Given the description of an element on the screen output the (x, y) to click on. 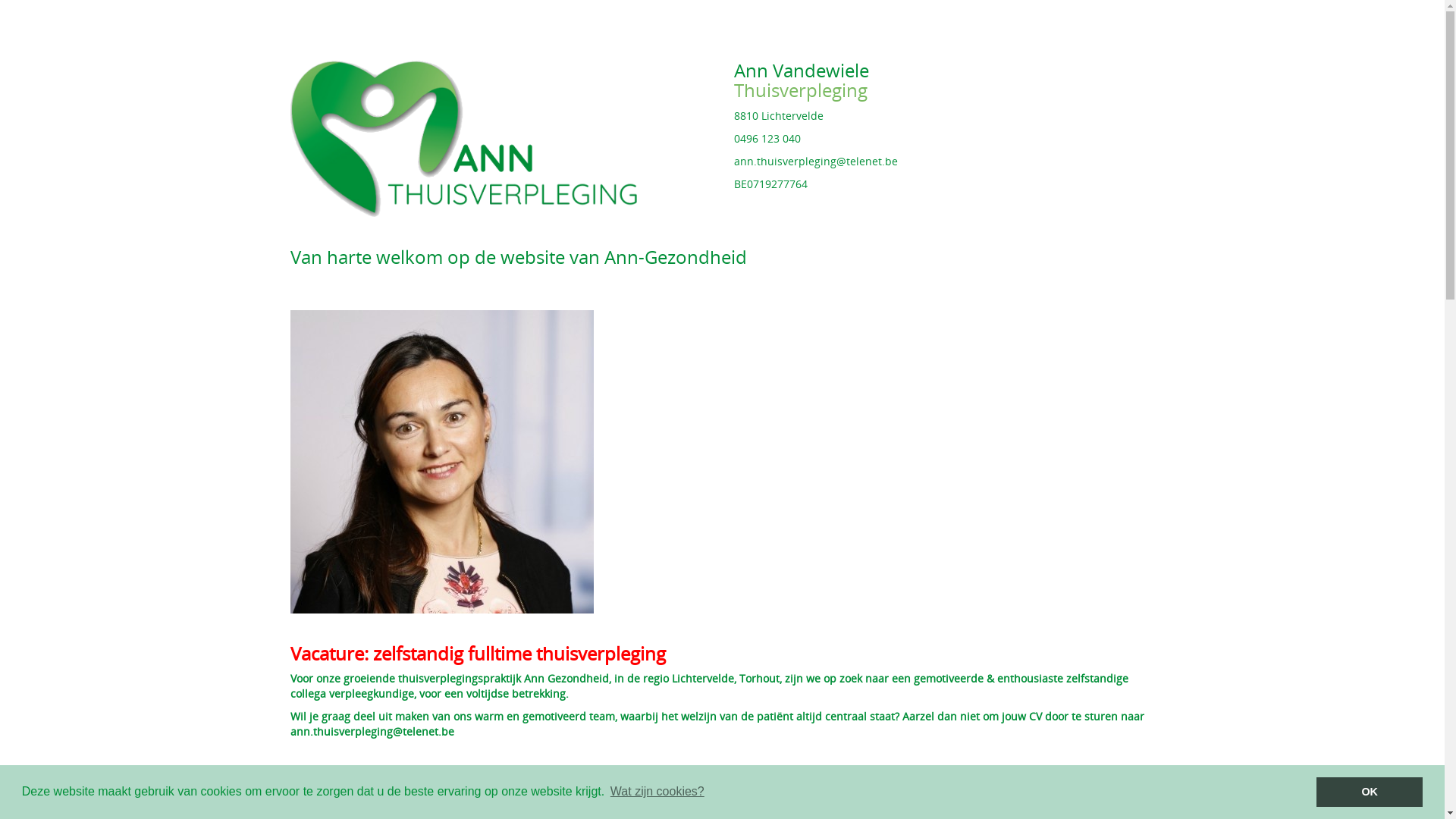
Wat zijn cookies? Element type: text (657, 791)
OK Element type: text (1369, 791)
0496 123 040 Element type: text (767, 138)
ann.thuisverpleging@telenet.be Element type: text (815, 160)
